Given the description of an element on the screen output the (x, y) to click on. 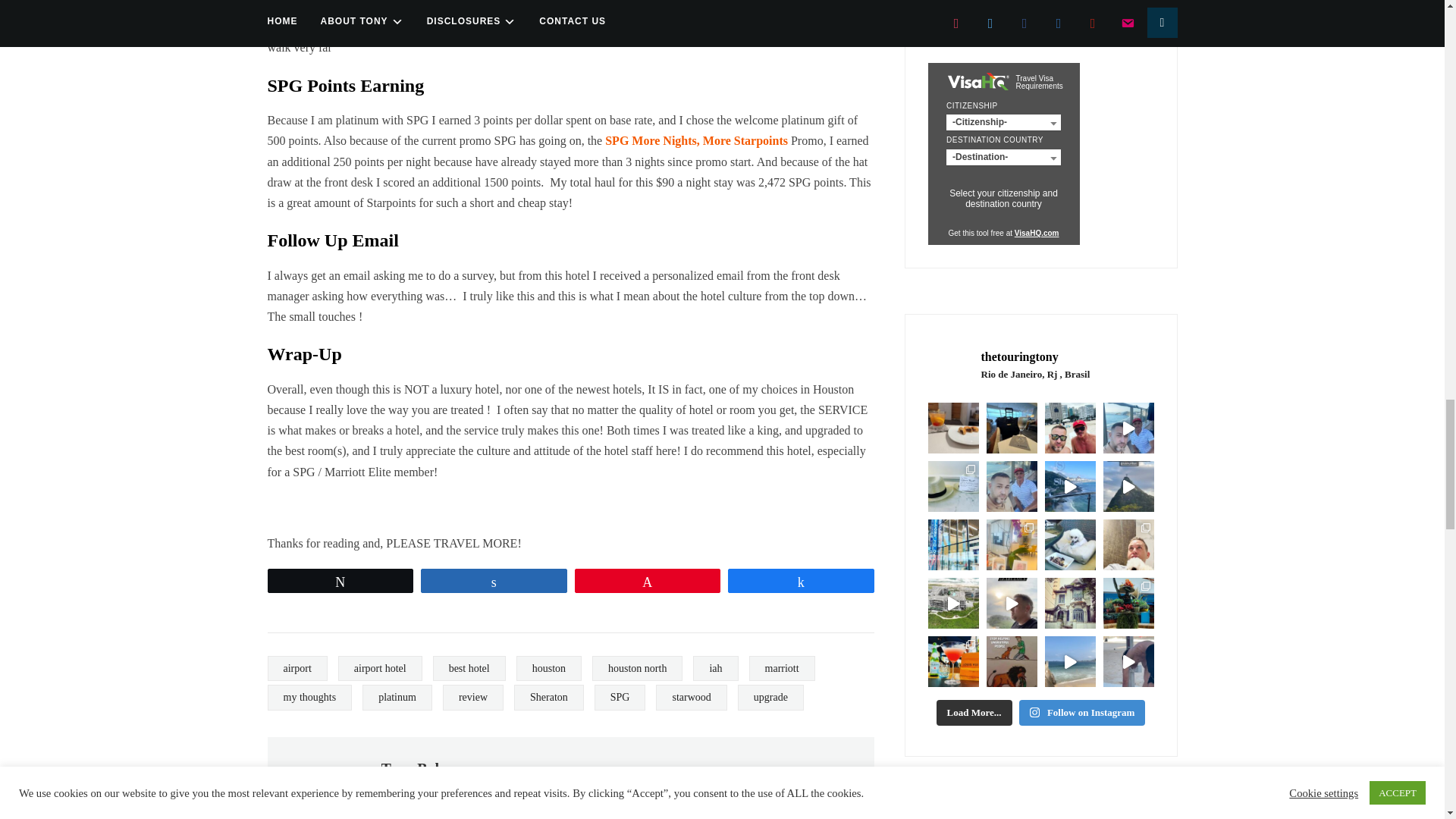
Posts by Tony Baker (418, 768)
